Given the description of an element on the screen output the (x, y) to click on. 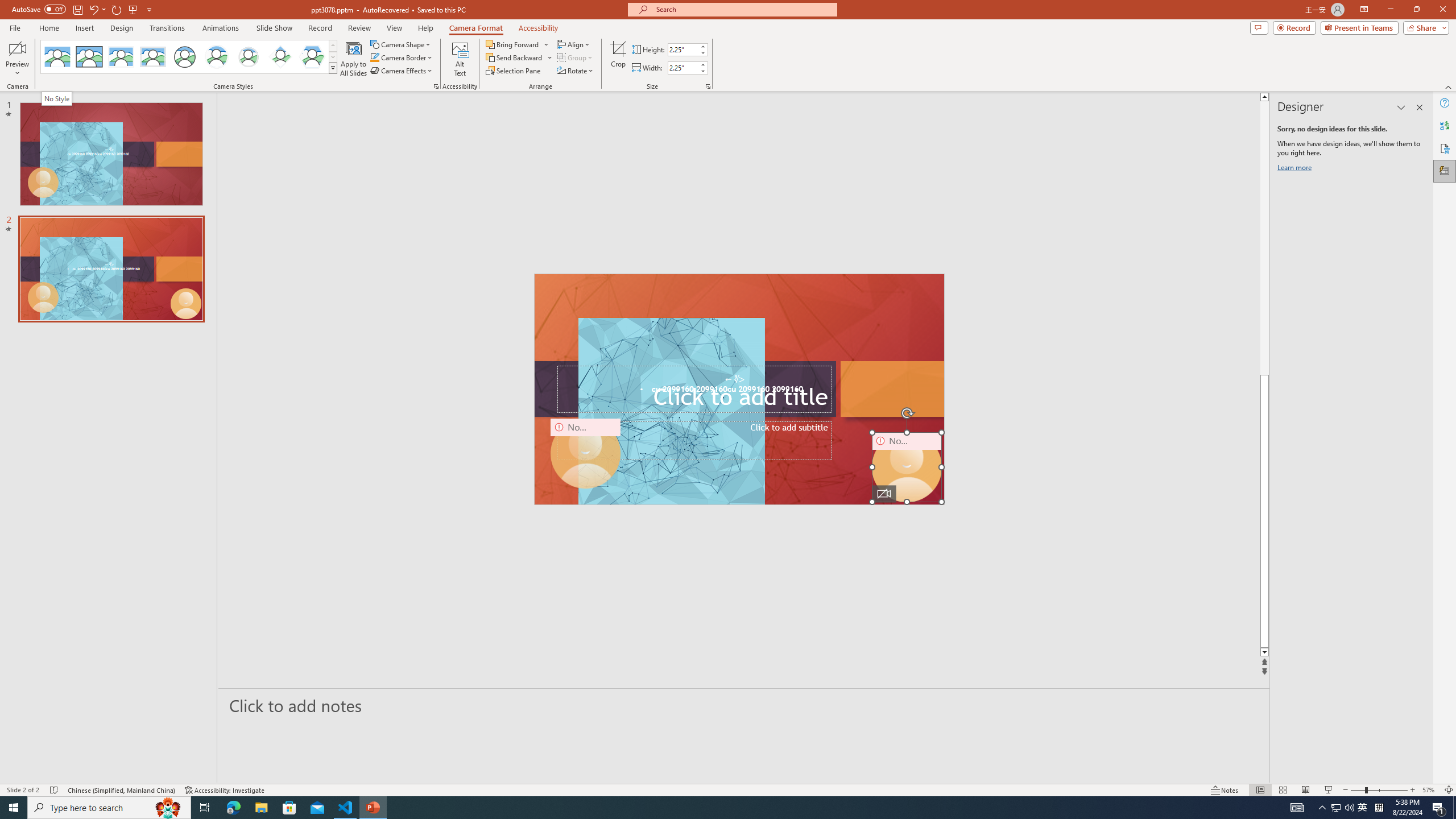
Share (1423, 27)
File Tab (15, 27)
Restore Down (1416, 9)
No Style (57, 98)
System (6, 6)
Soft Edge Circle (248, 56)
Task Pane Options (1400, 107)
Record (1294, 27)
Zoom (1379, 790)
Close (1442, 9)
Title TextBox (694, 389)
Microsoft search (742, 9)
Normal (1260, 790)
Accessibility Checker Accessibility: Investigate (224, 790)
